Given the description of an element on the screen output the (x, y) to click on. 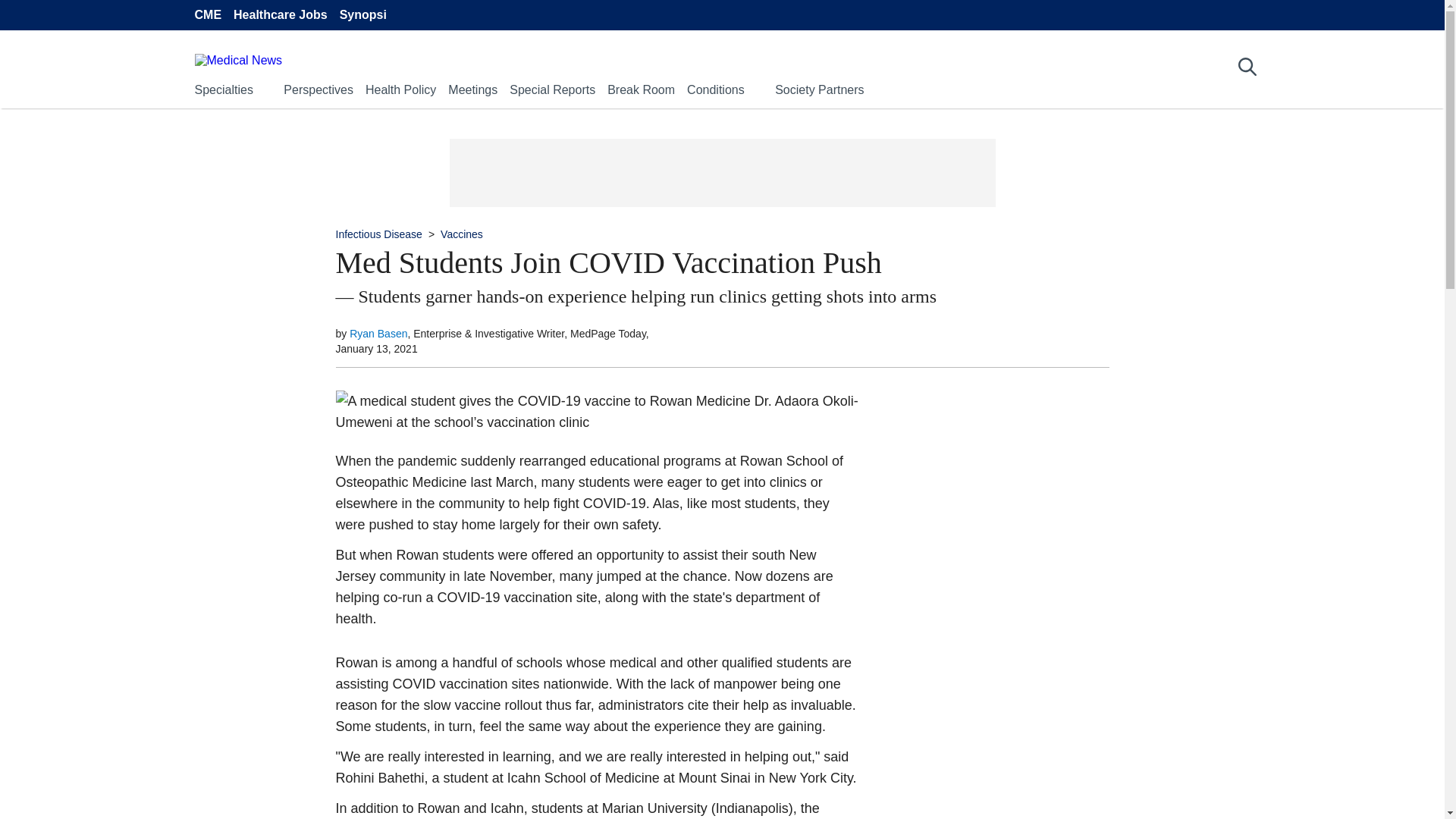
Synopsi (363, 15)
Healthcare Jobs (279, 15)
Specialties (222, 89)
CME (207, 15)
